Given the description of an element on the screen output the (x, y) to click on. 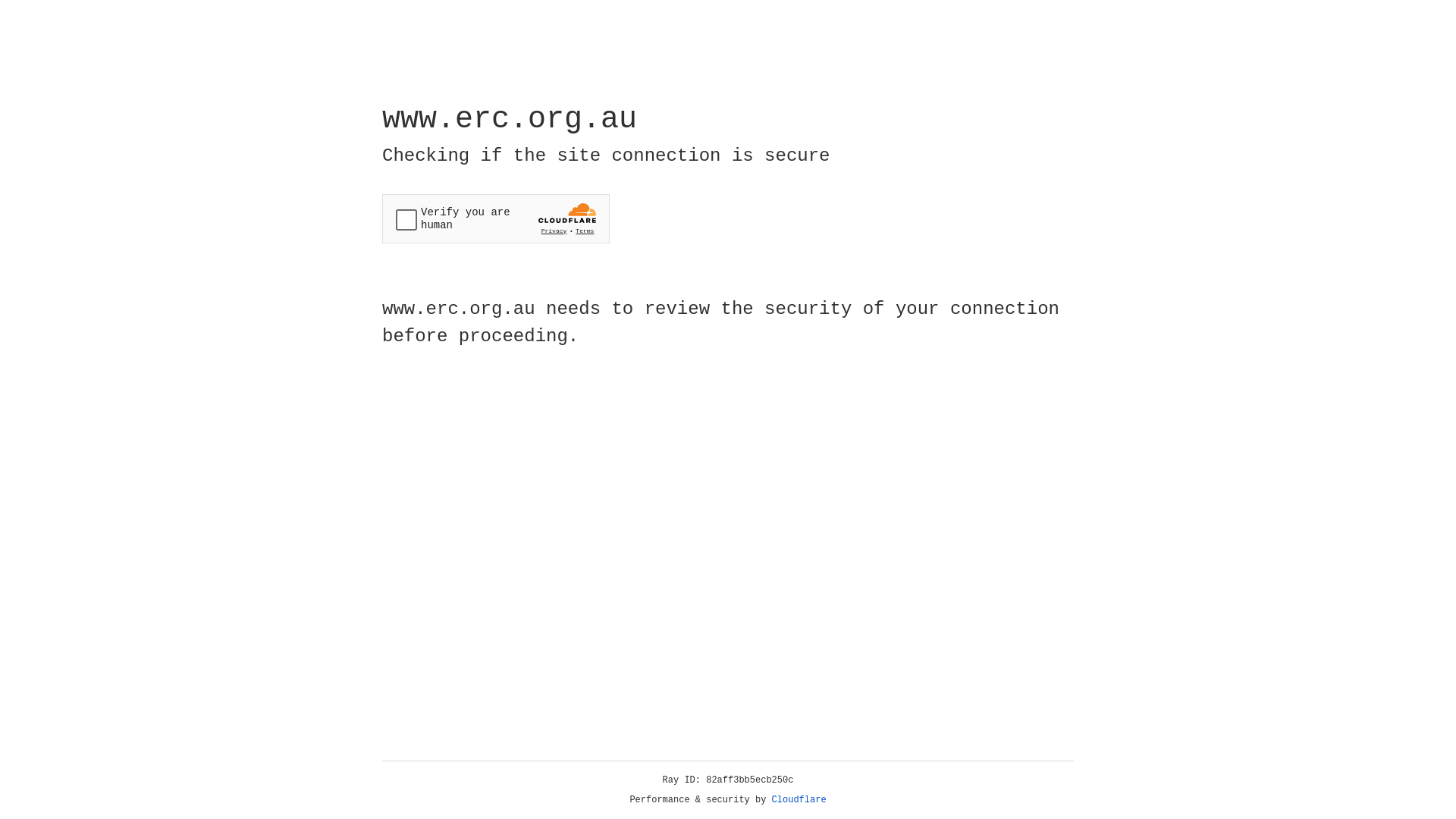
Widget containing a Cloudflare security challenge Element type: hover (495, 218)
Cloudflare Element type: text (798, 799)
